Given the description of an element on the screen output the (x, y) to click on. 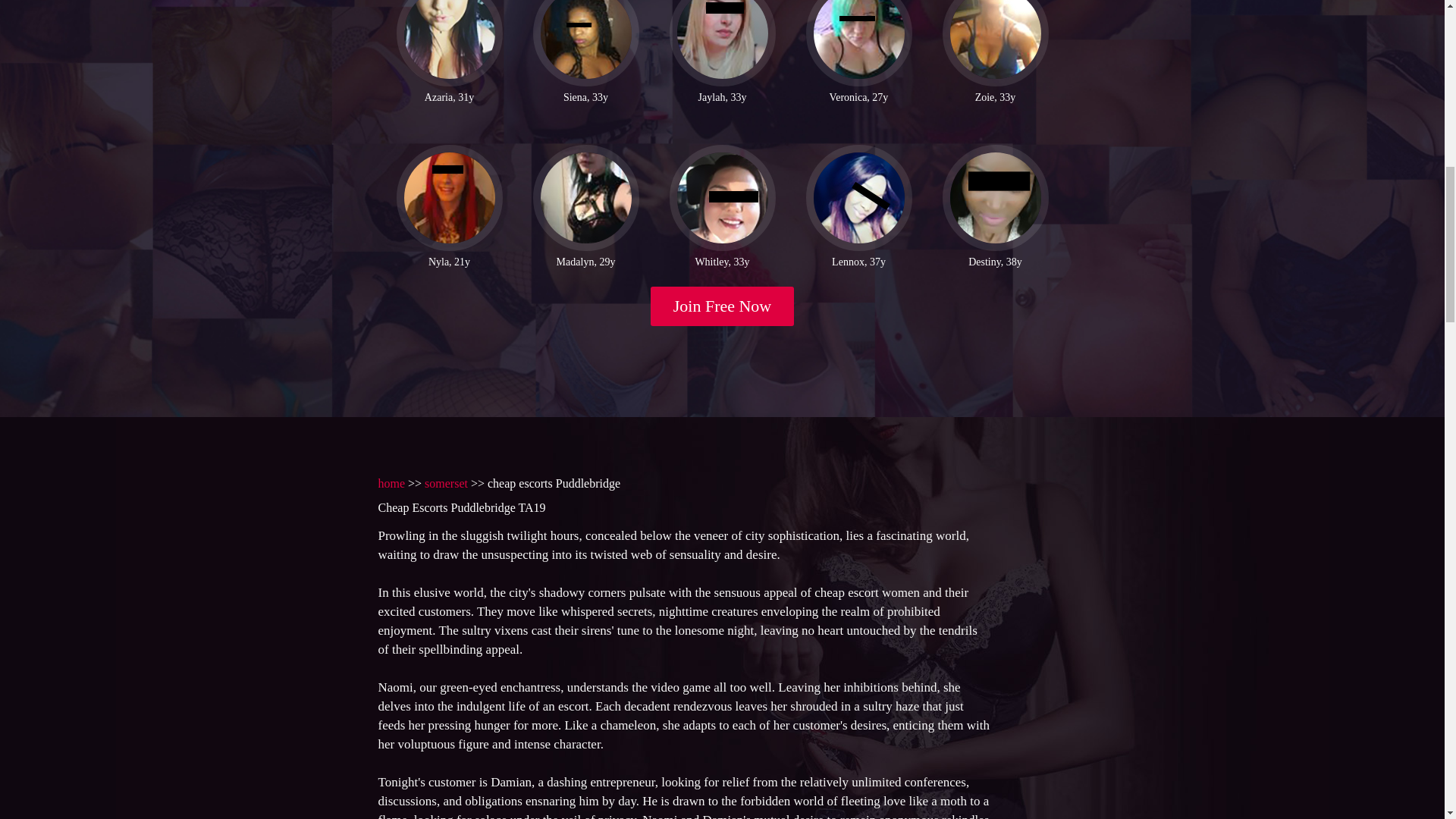
somerset (446, 482)
home (390, 482)
Join (722, 305)
Join Free Now (722, 305)
